Given the description of an element on the screen output the (x, y) to click on. 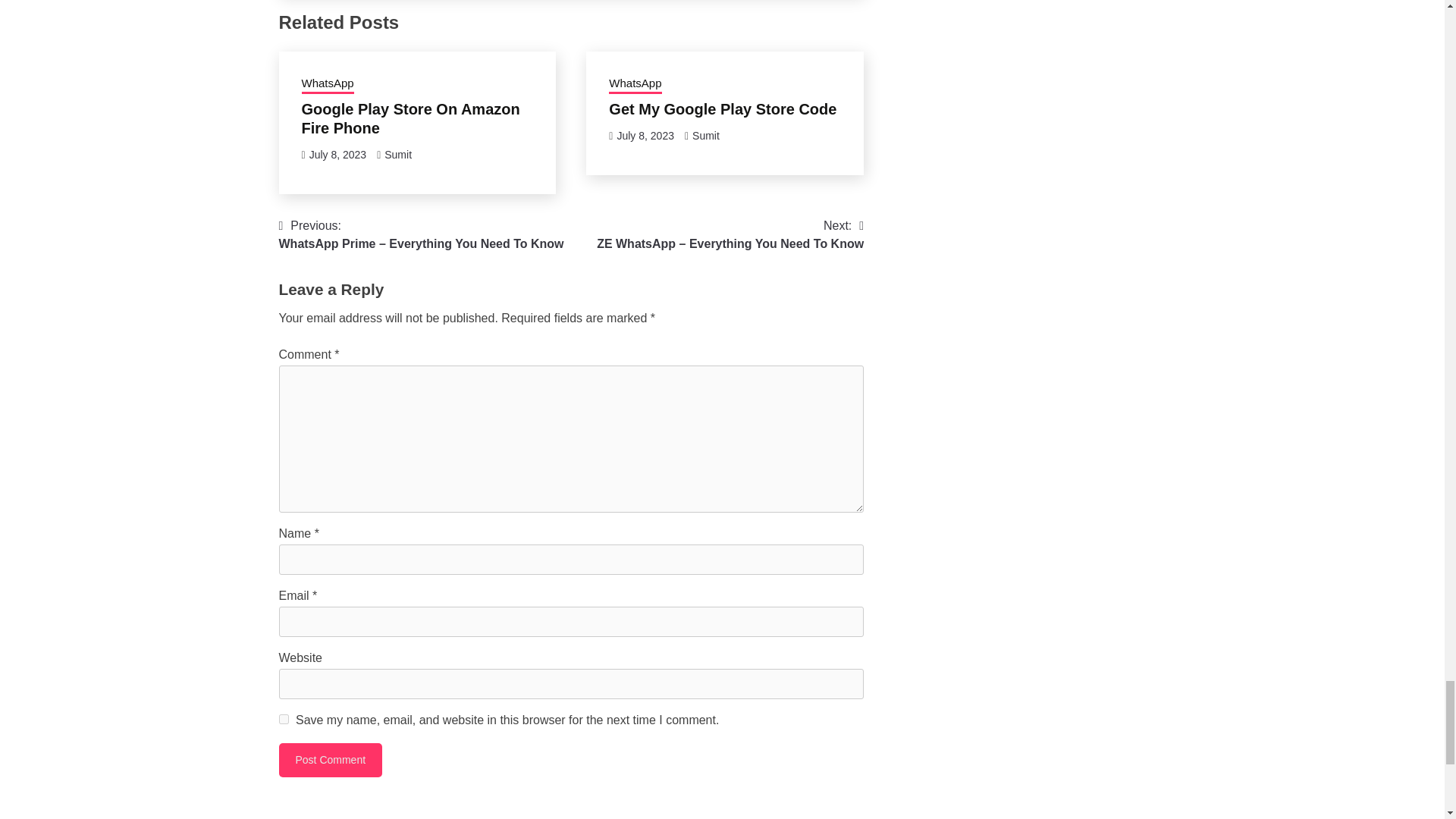
yes (283, 718)
Post Comment (330, 759)
